Given the description of an element on the screen output the (x, y) to click on. 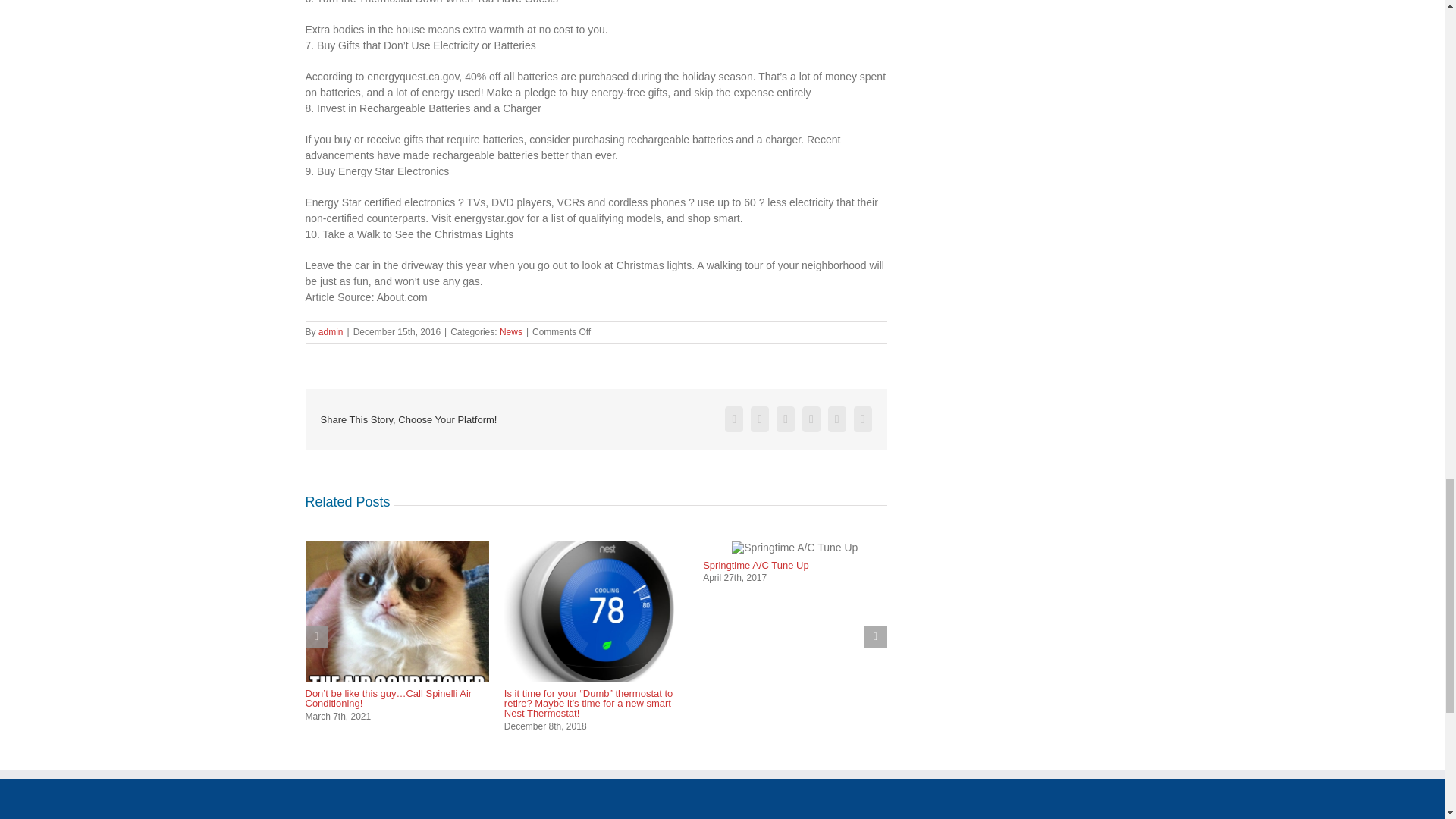
admin (330, 331)
News (510, 331)
Posts by admin (330, 331)
